Given the description of an element on the screen output the (x, y) to click on. 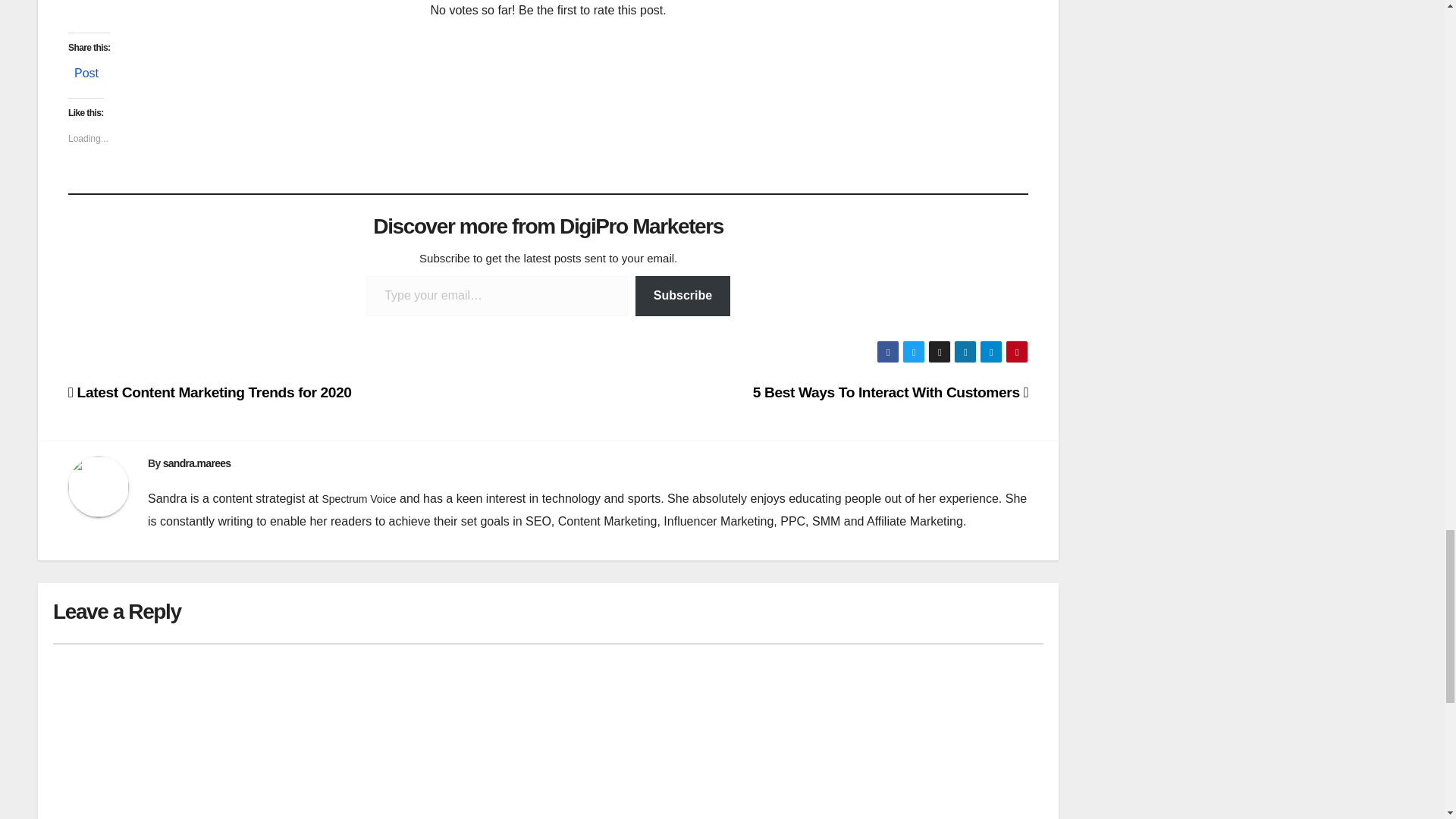
Subscribe (682, 296)
Please fill in this field. (496, 296)
Post (86, 69)
